Given the description of an element on the screen output the (x, y) to click on. 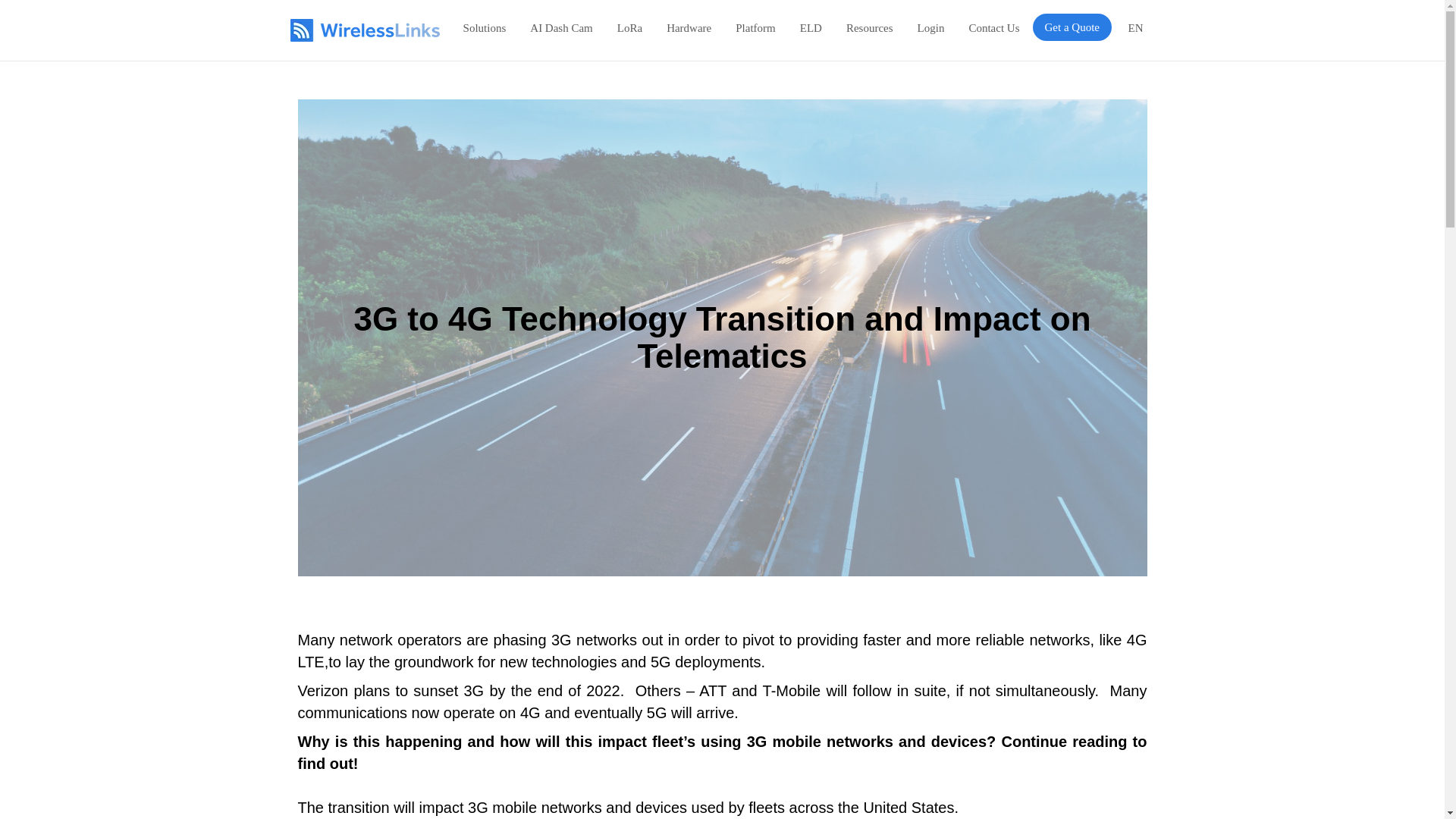
AI Dash Cam (560, 27)
Hardware (688, 27)
Solutions (484, 27)
